Given the description of an element on the screen output the (x, y) to click on. 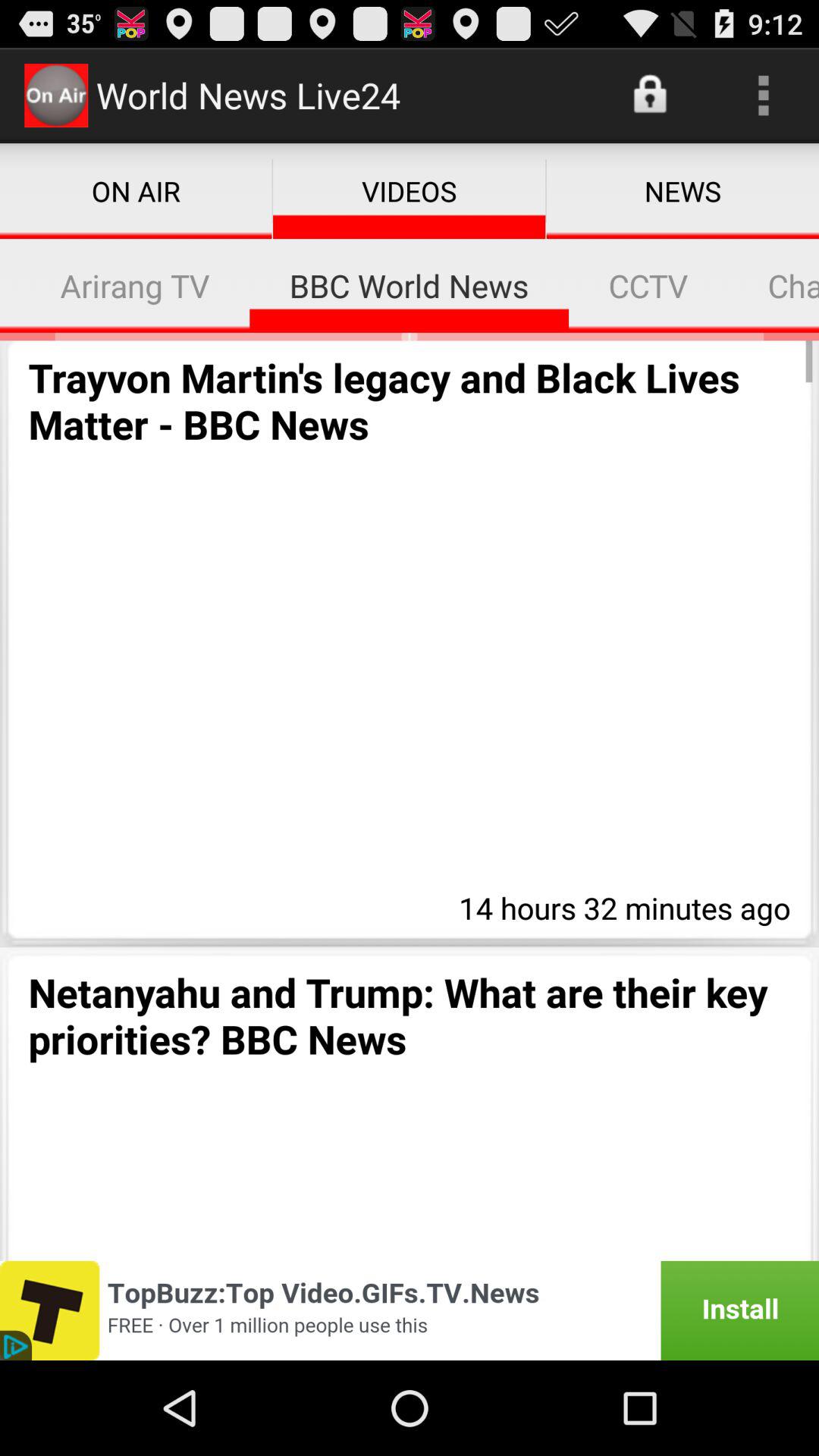
turn off item above the trayvon martin s item (134, 285)
